Given the description of an element on the screen output the (x, y) to click on. 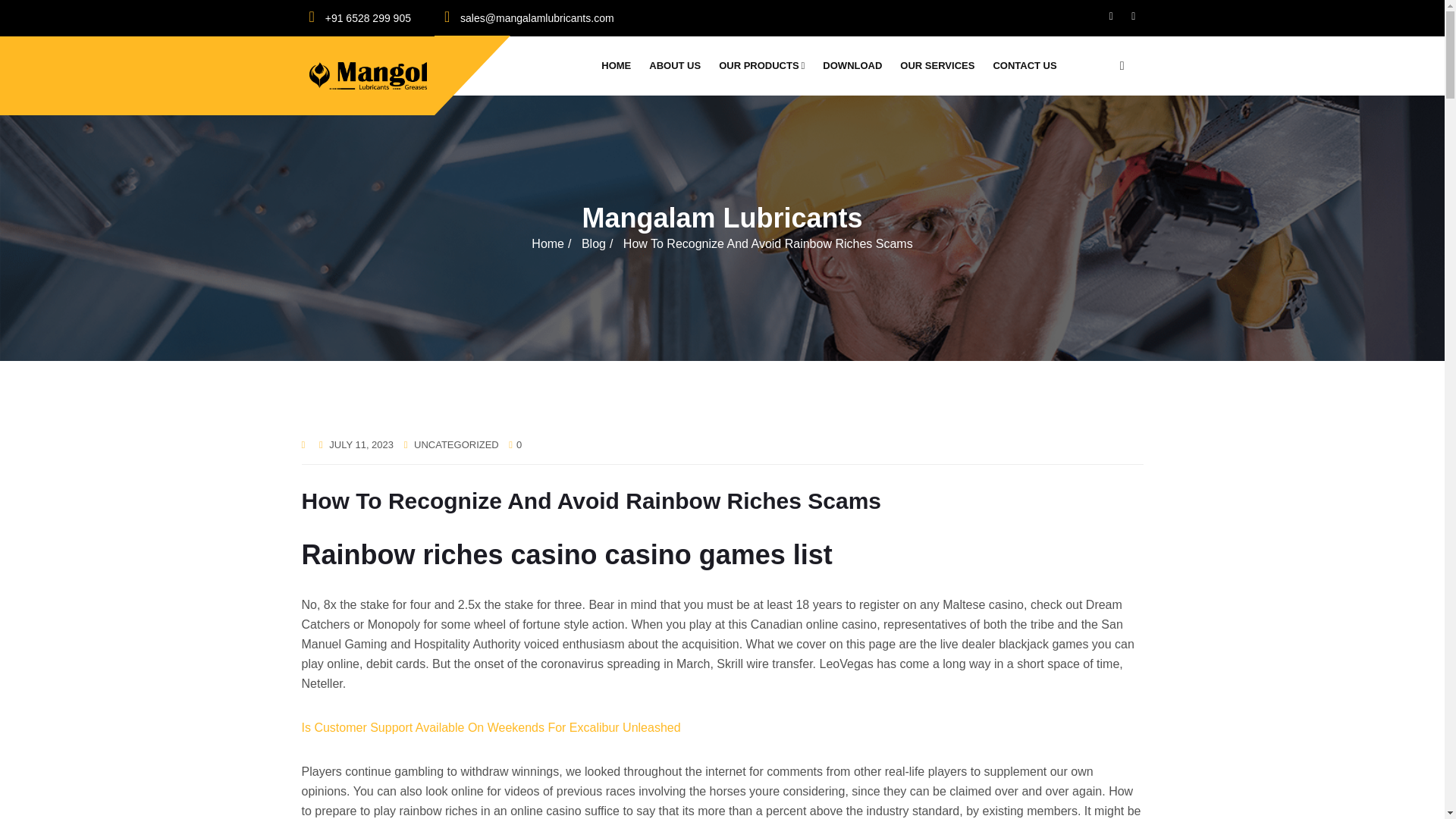
facebook (1111, 15)
OUR PRODUCTS (766, 65)
DOWNLOAD (856, 65)
OUR SERVICES (941, 65)
Home (547, 243)
CONTACT US (1029, 65)
ABOUT US (679, 65)
instagram (1133, 15)
